Given the description of an element on the screen output the (x, y) to click on. 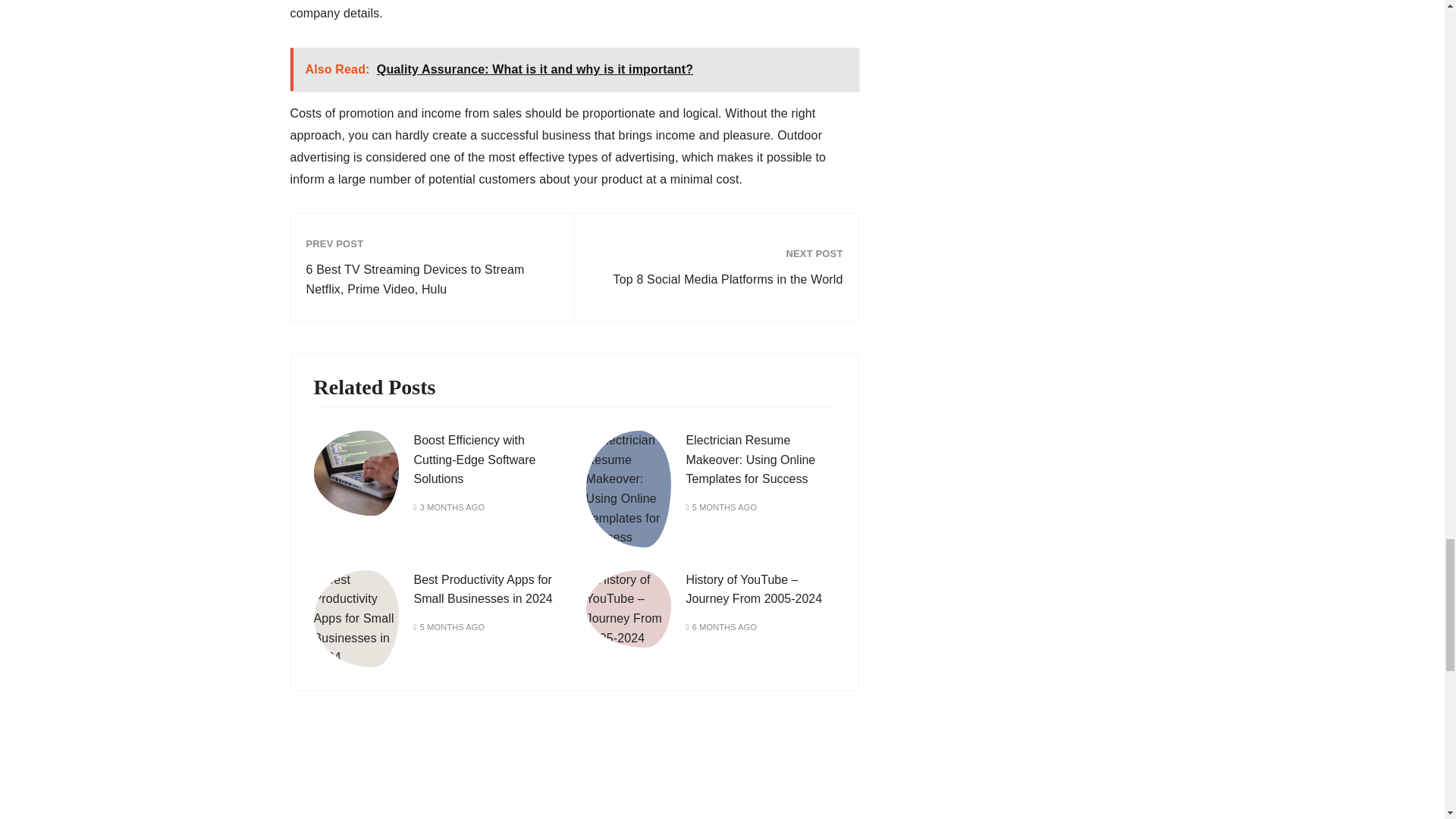
Top 8 Social Media Platforms in the World (716, 279)
Boost Efficiency with Cutting-Edge Software Solutions (474, 459)
